Given the description of an element on the screen output the (x, y) to click on. 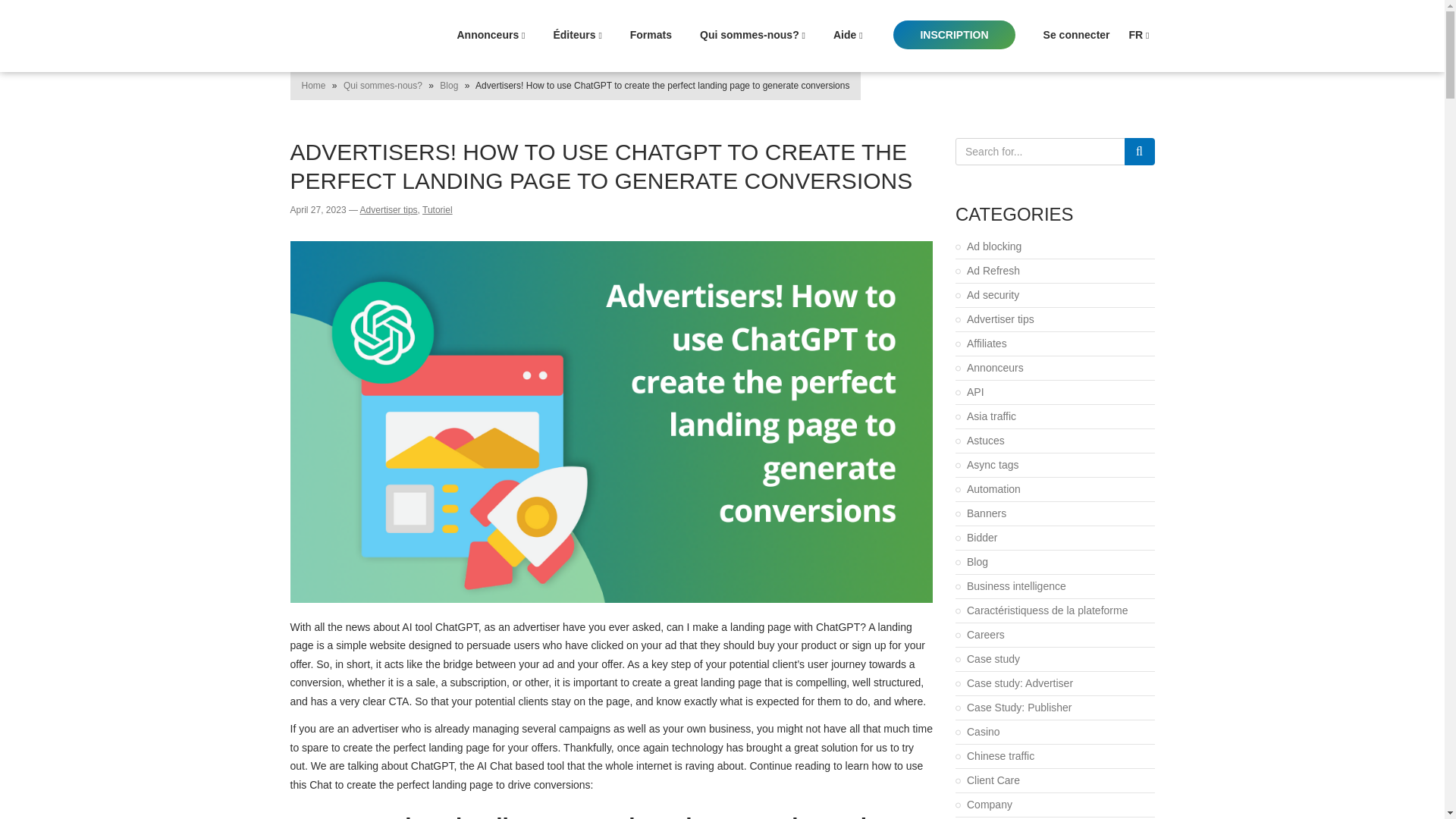
Home (313, 85)
Qui sommes-nous? (382, 85)
Advertiser tips (388, 209)
INSCRIPTION (953, 34)
Tutoriel (437, 209)
Blog (448, 85)
Se connecter (1076, 34)
Formats (650, 34)
Qui sommes-nous? (752, 34)
Annonceurs (490, 34)
